Given the description of an element on the screen output the (x, y) to click on. 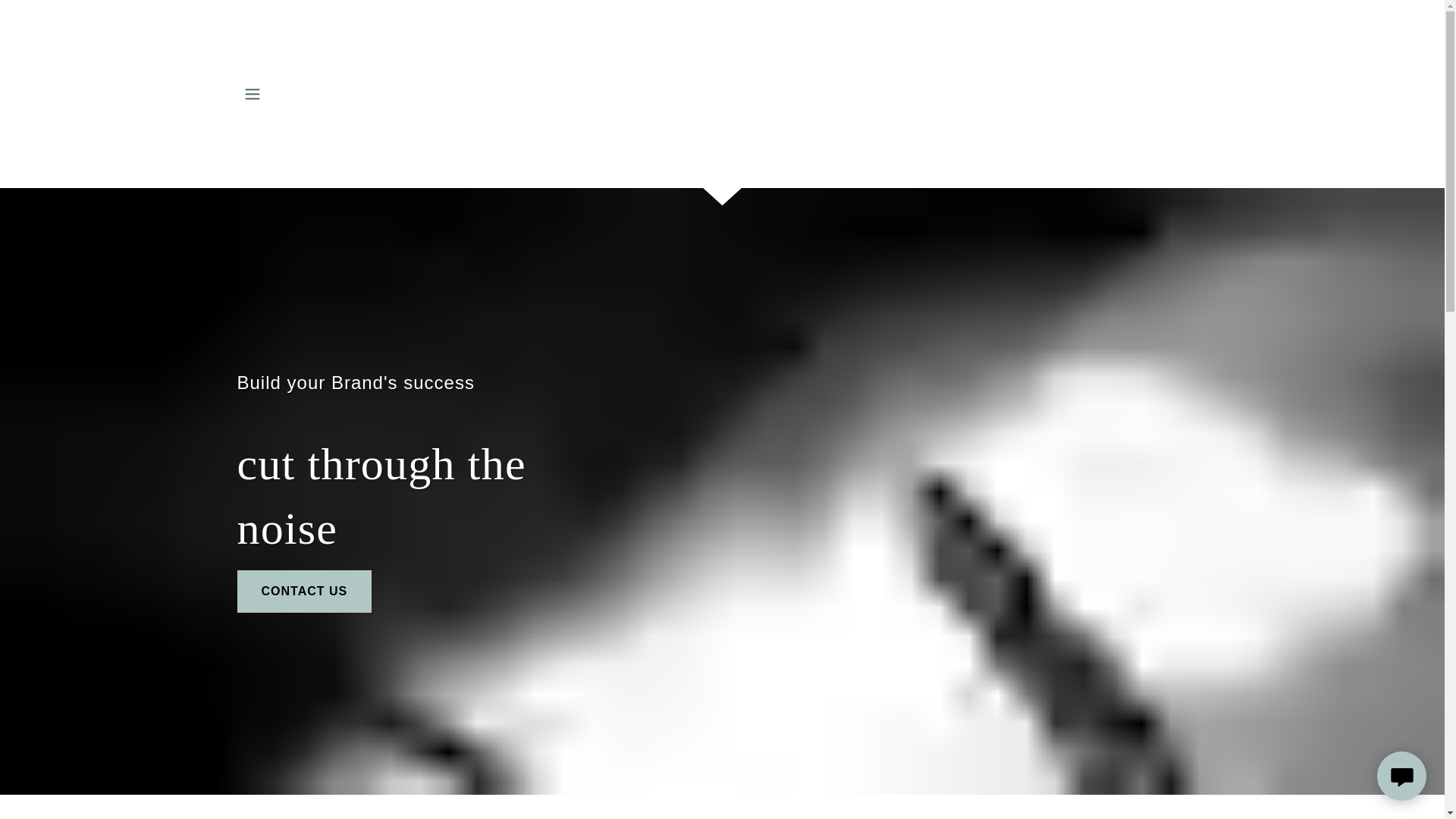
CONTACT US (303, 591)
